Given the description of an element on the screen output the (x, y) to click on. 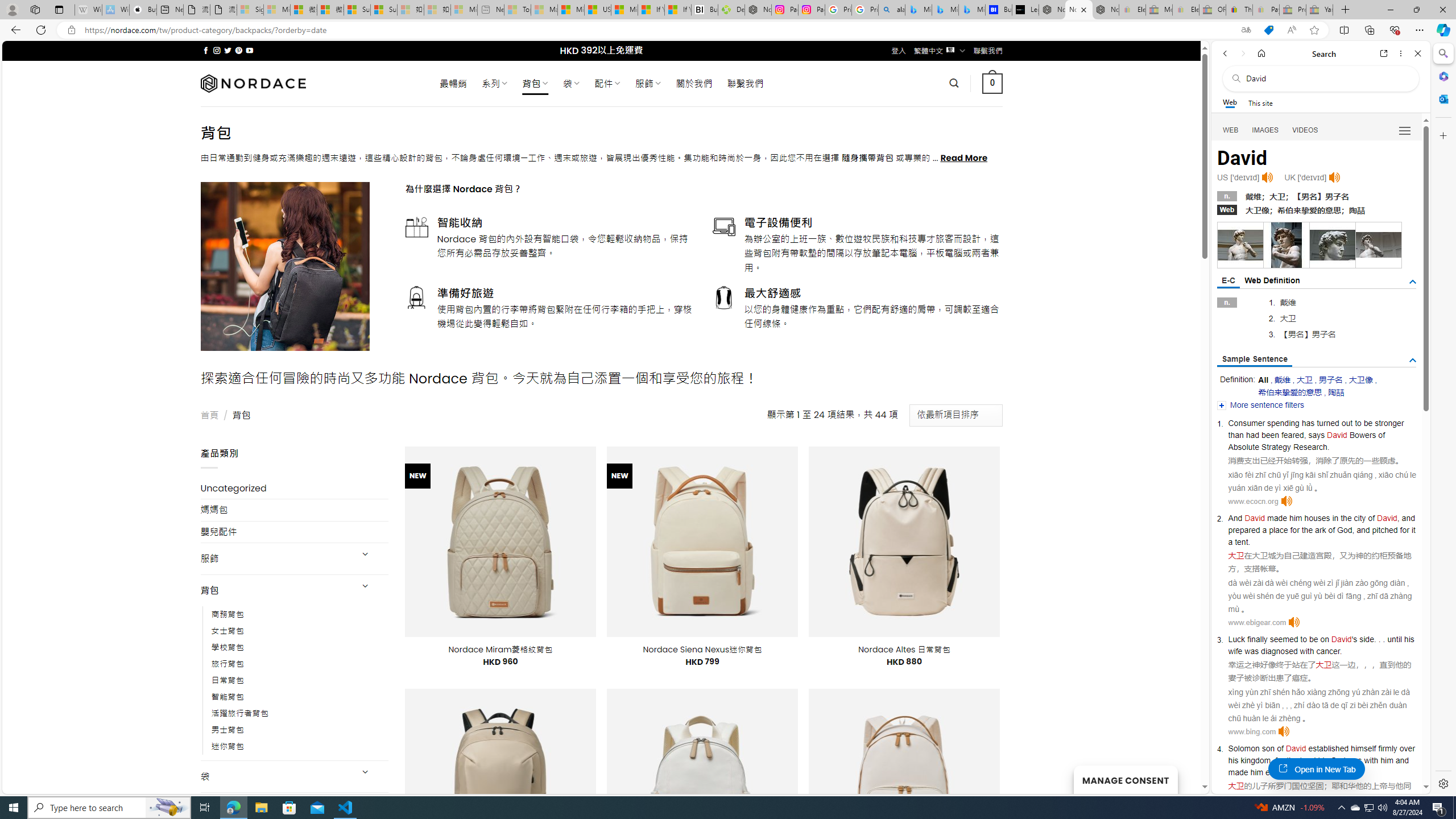
Search Filter, VIDEOS (1304, 129)
Read More (964, 157)
prepared (1243, 529)
Class: b_serphb (1404, 130)
This site scope (1259, 102)
until (1394, 638)
